Given the description of an element on the screen output the (x, y) to click on. 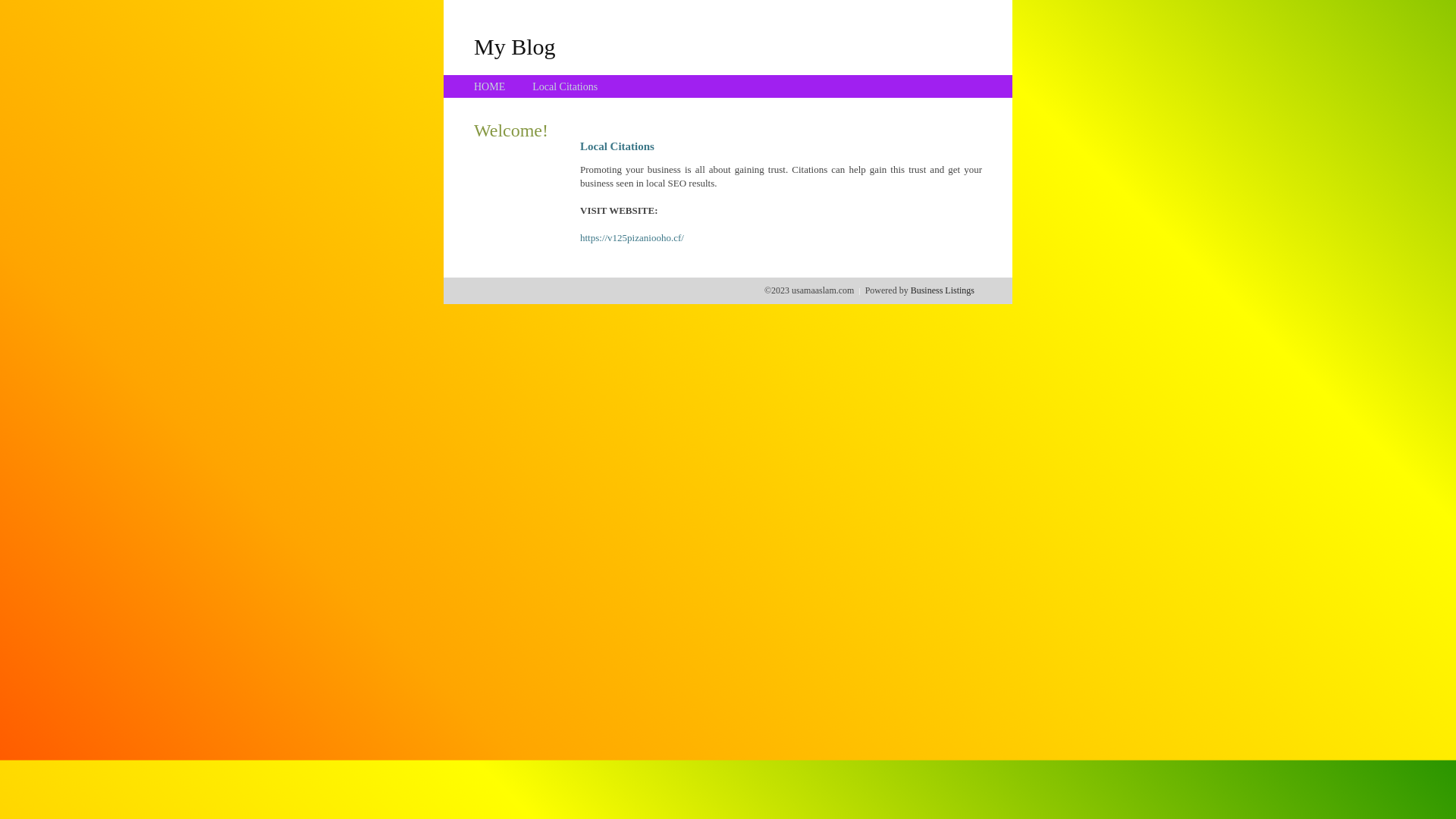
Business Listings Element type: text (942, 290)
My Blog Element type: text (514, 46)
HOME Element type: text (489, 86)
https://v125pizaniooho.cf/ Element type: text (632, 237)
Local Citations Element type: text (564, 86)
